Given the description of an element on the screen output the (x, y) to click on. 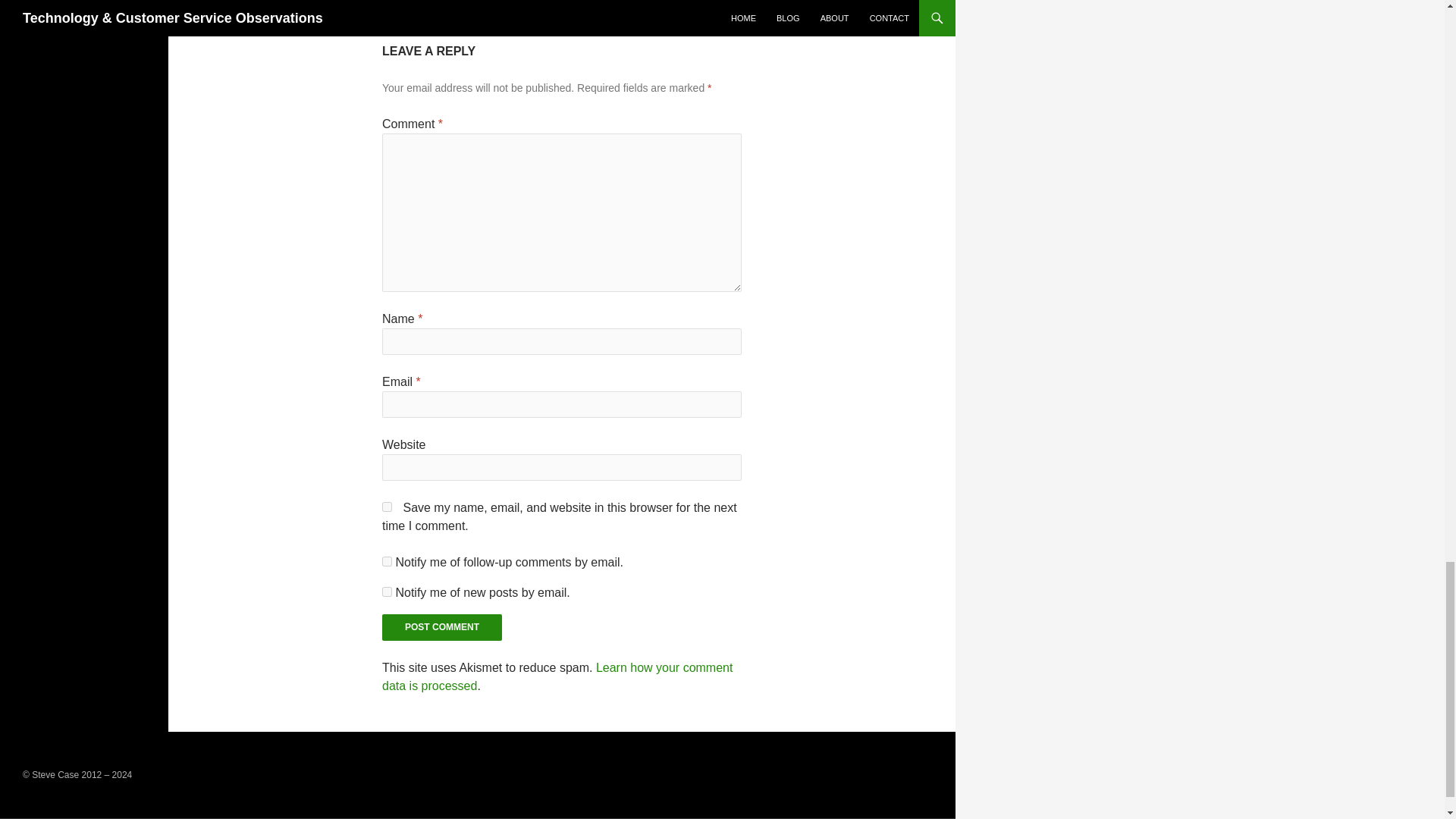
Post Comment (441, 627)
subscribe (386, 561)
subscribe (561, 2)
yes (386, 592)
Post Comment (386, 506)
